Given the description of an element on the screen output the (x, y) to click on. 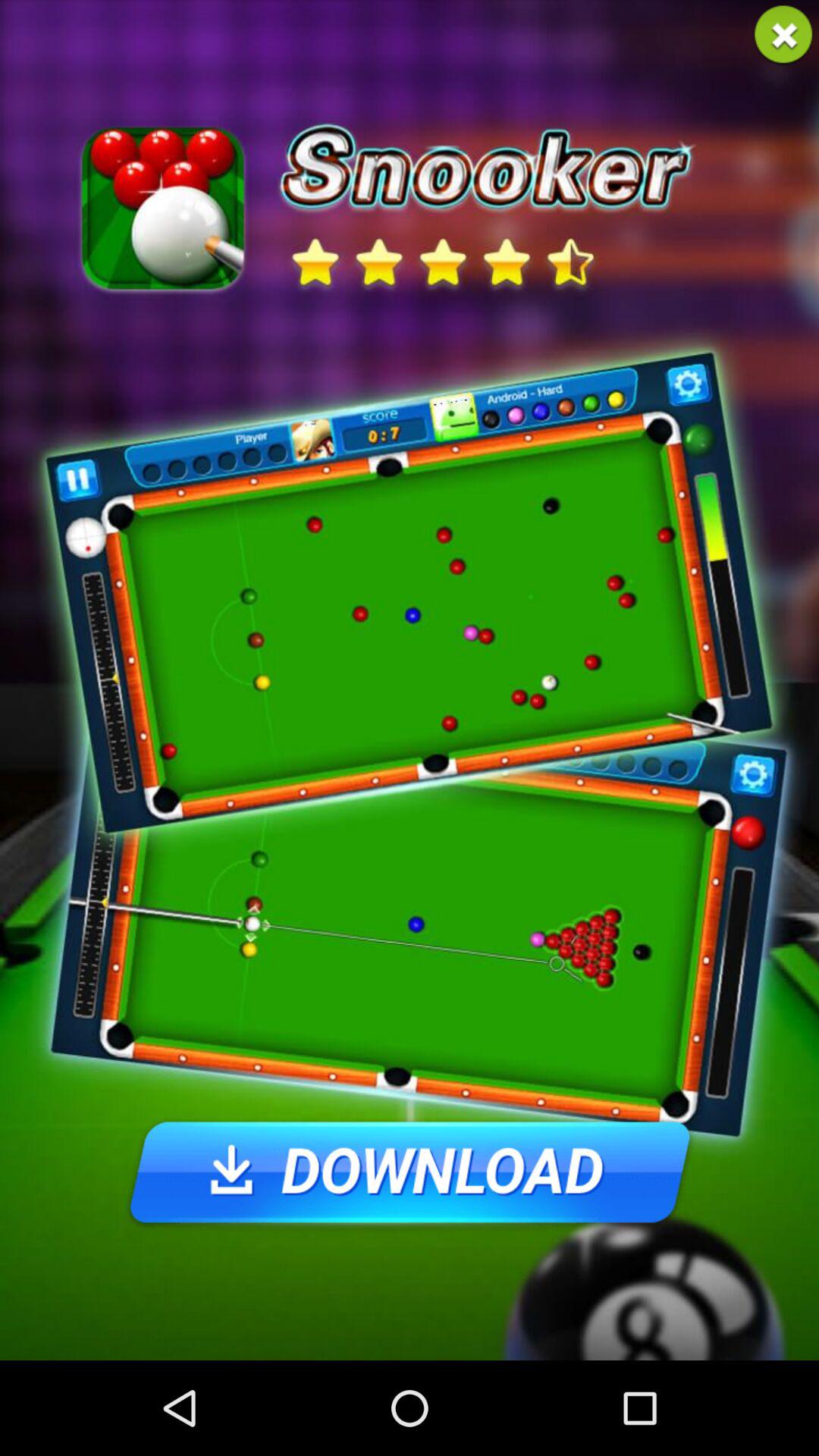
exit advertisement (783, 35)
